Given the description of an element on the screen output the (x, y) to click on. 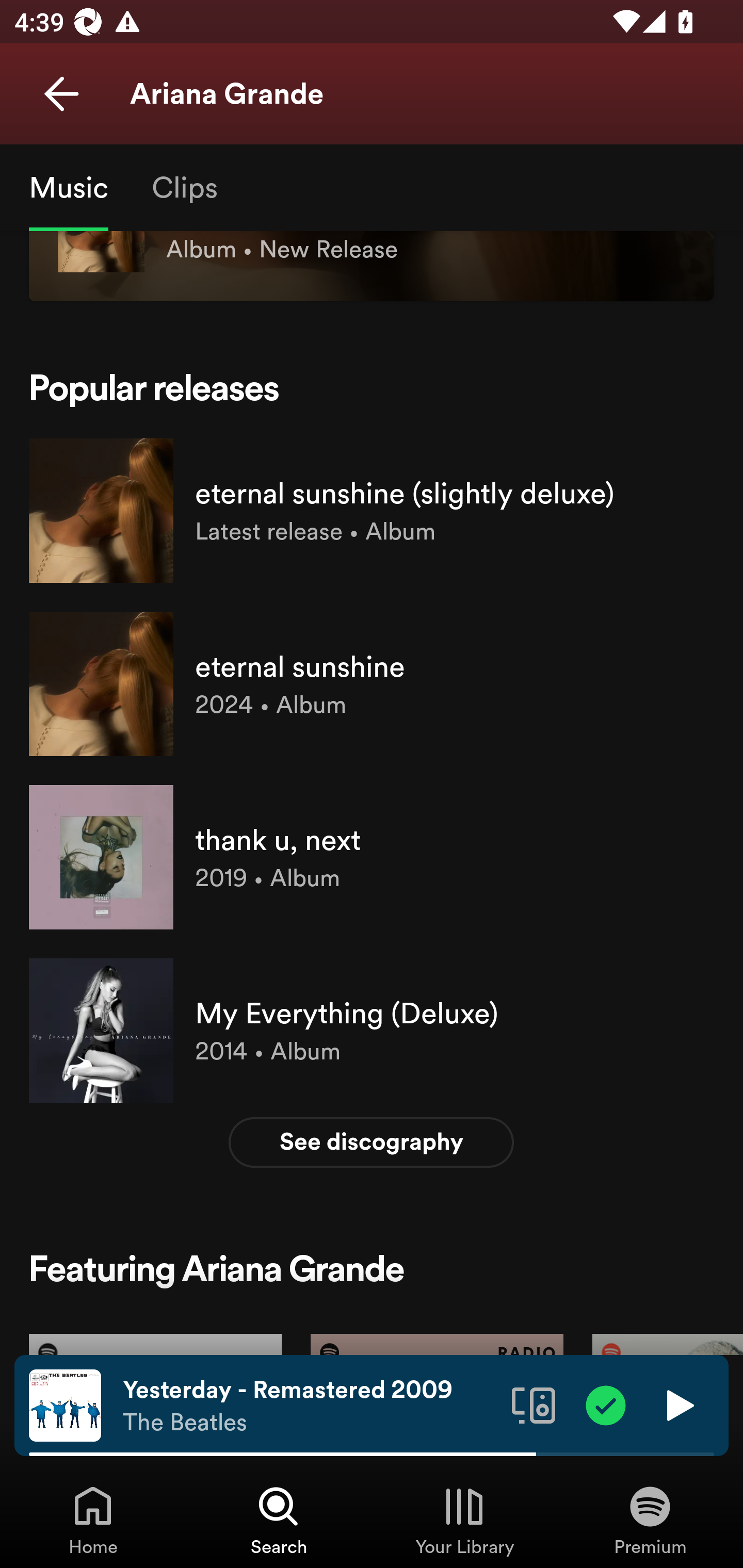
Back (60, 93)
Clips (184, 187)
eternal sunshine Album • New Release (371, 280)
eternal sunshine 2024 • Album (371, 683)
thank u, next 2019 • Album (371, 856)
My Everything (Deluxe) 2014 • Album (371, 1029)
See discography (371, 1142)
Yesterday - Remastered 2009 The Beatles (309, 1405)
The cover art of the currently playing track (64, 1404)
Connect to a device. Opens the devices menu (533, 1404)
Item added (605, 1404)
Play (677, 1404)
Home, Tab 1 of 4 Home Home (92, 1519)
Search, Tab 2 of 4 Search Search (278, 1519)
Your Library, Tab 3 of 4 Your Library Your Library (464, 1519)
Premium, Tab 4 of 4 Premium Premium (650, 1519)
